Given the description of an element on the screen output the (x, y) to click on. 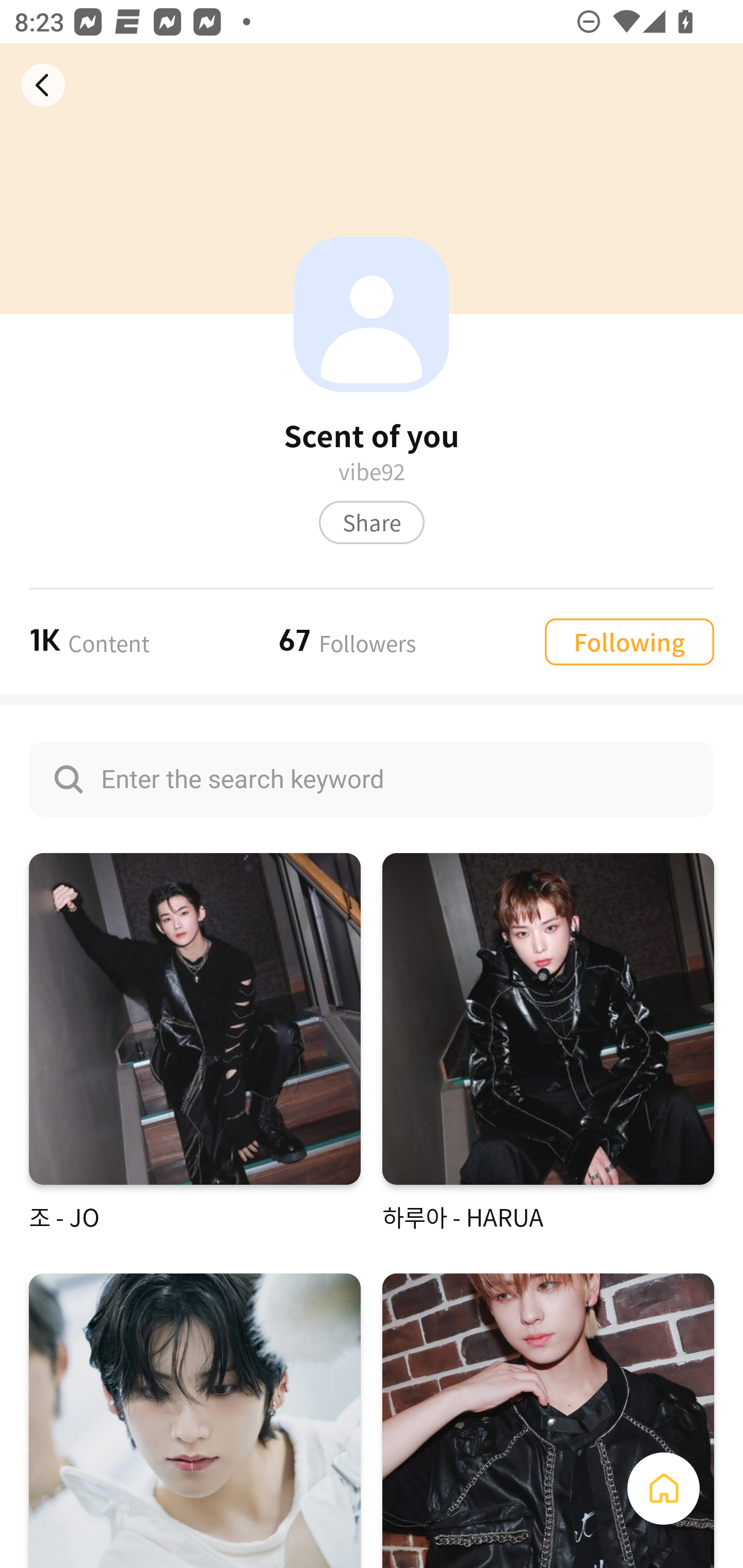
Share (371, 522)
Following (629, 640)
Enter the search keyword (371, 778)
조  -  JO (194, 1043)
하루아  -  HARUA (548, 1043)
